Given the description of an element on the screen output the (x, y) to click on. 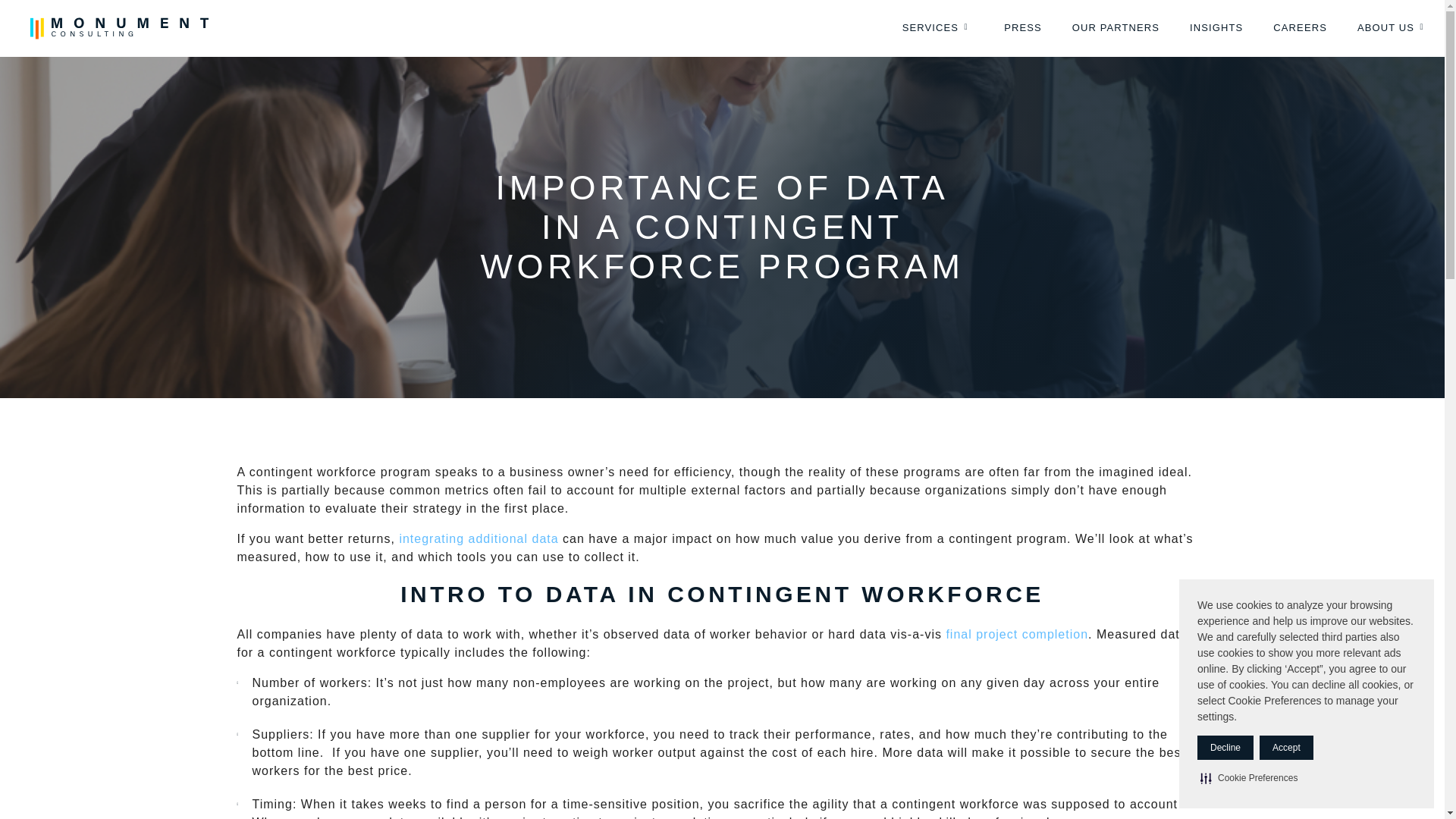
integrating additional data (477, 538)
final project completion (1015, 634)
Decline (1224, 747)
PRESS (1022, 28)
SERVICES (937, 28)
INSIGHTS (1215, 28)
Cookie Preferences (1248, 777)
OUR PARTNERS (1115, 28)
CAREERS (1299, 28)
